Given the description of an element on the screen output the (x, y) to click on. 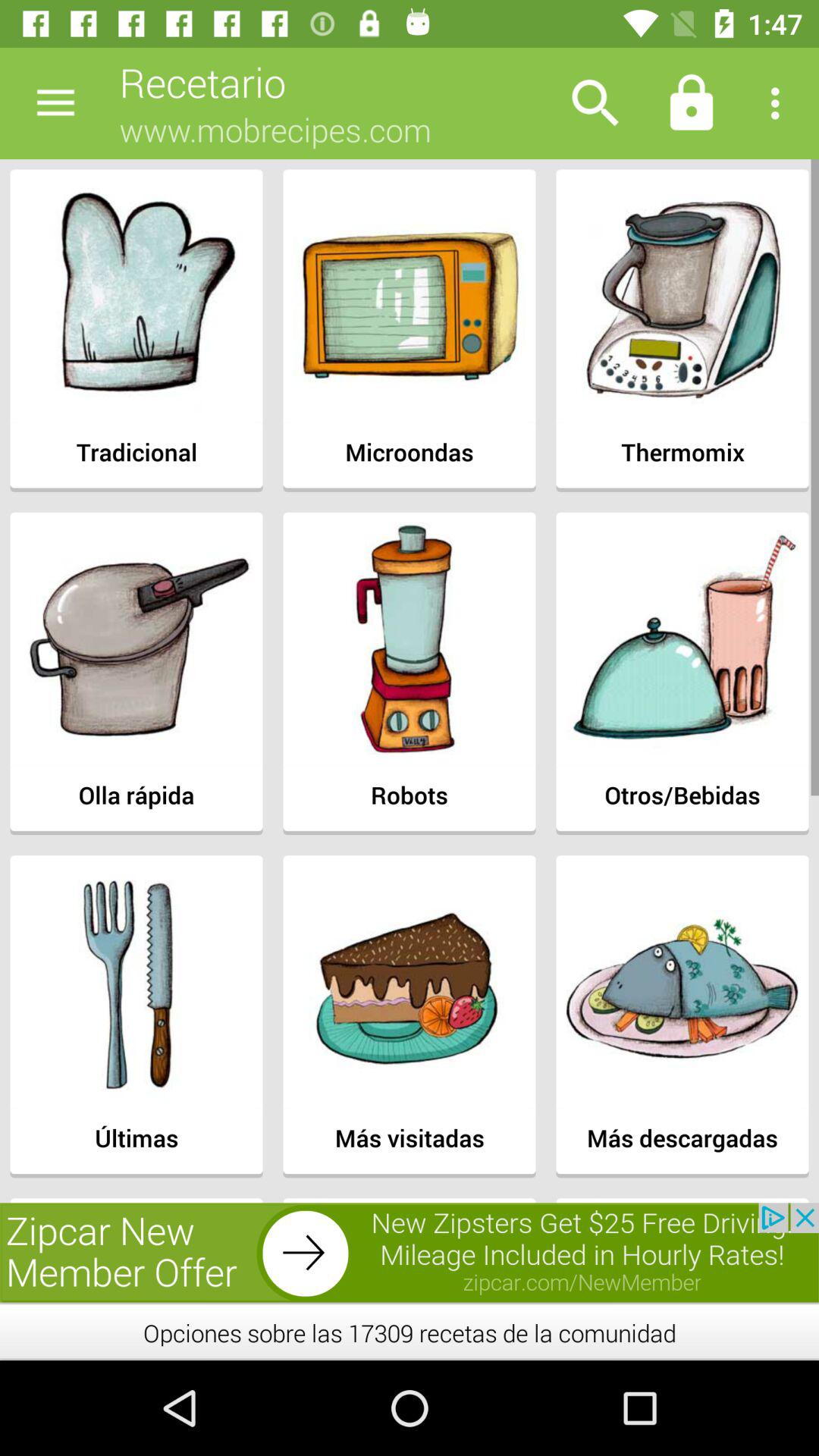
advertisement for offer (409, 1252)
